Given the description of an element on the screen output the (x, y) to click on. 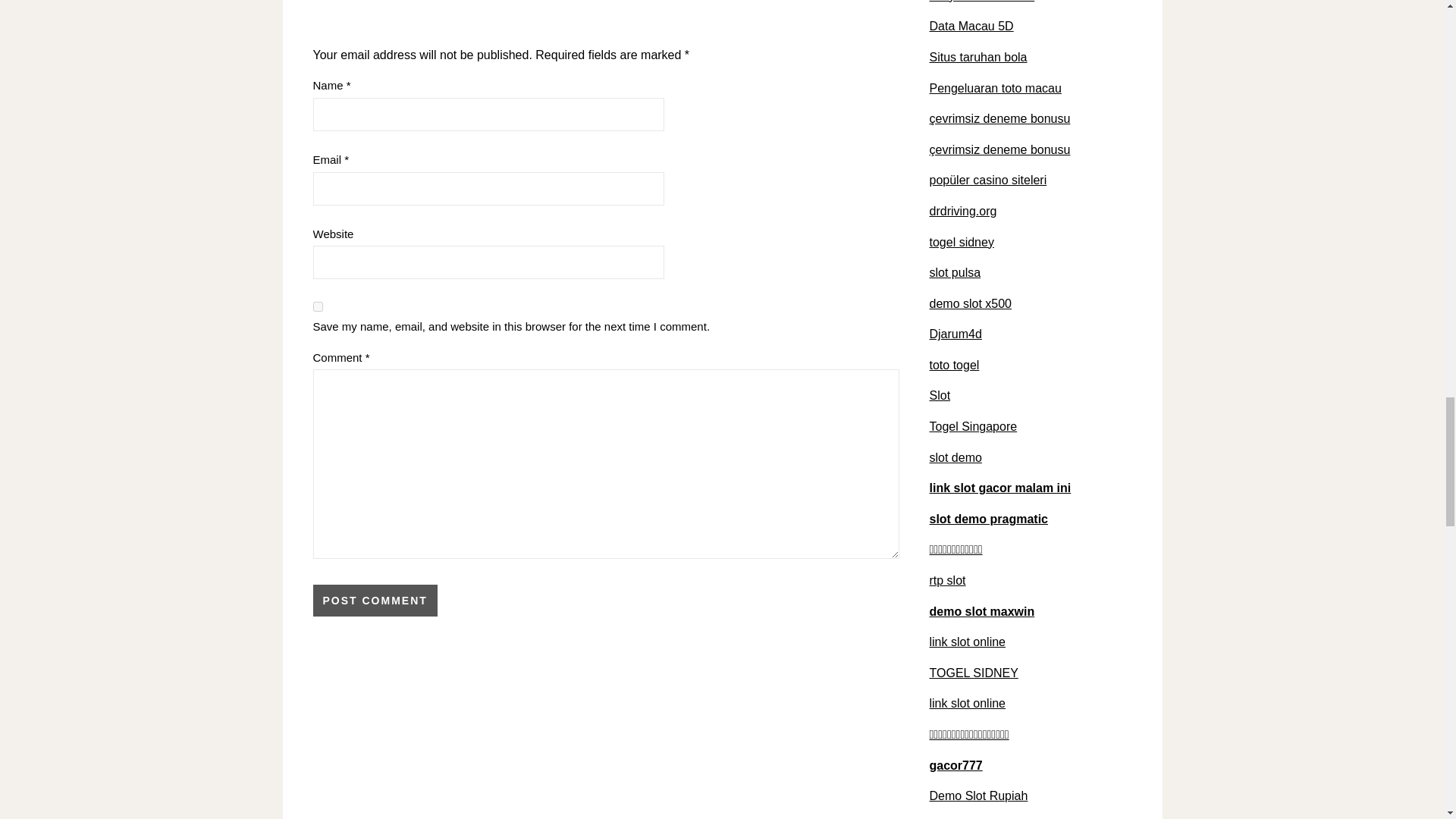
yes (317, 307)
Post Comment (374, 600)
Post Comment (374, 600)
